Given the description of an element on the screen output the (x, y) to click on. 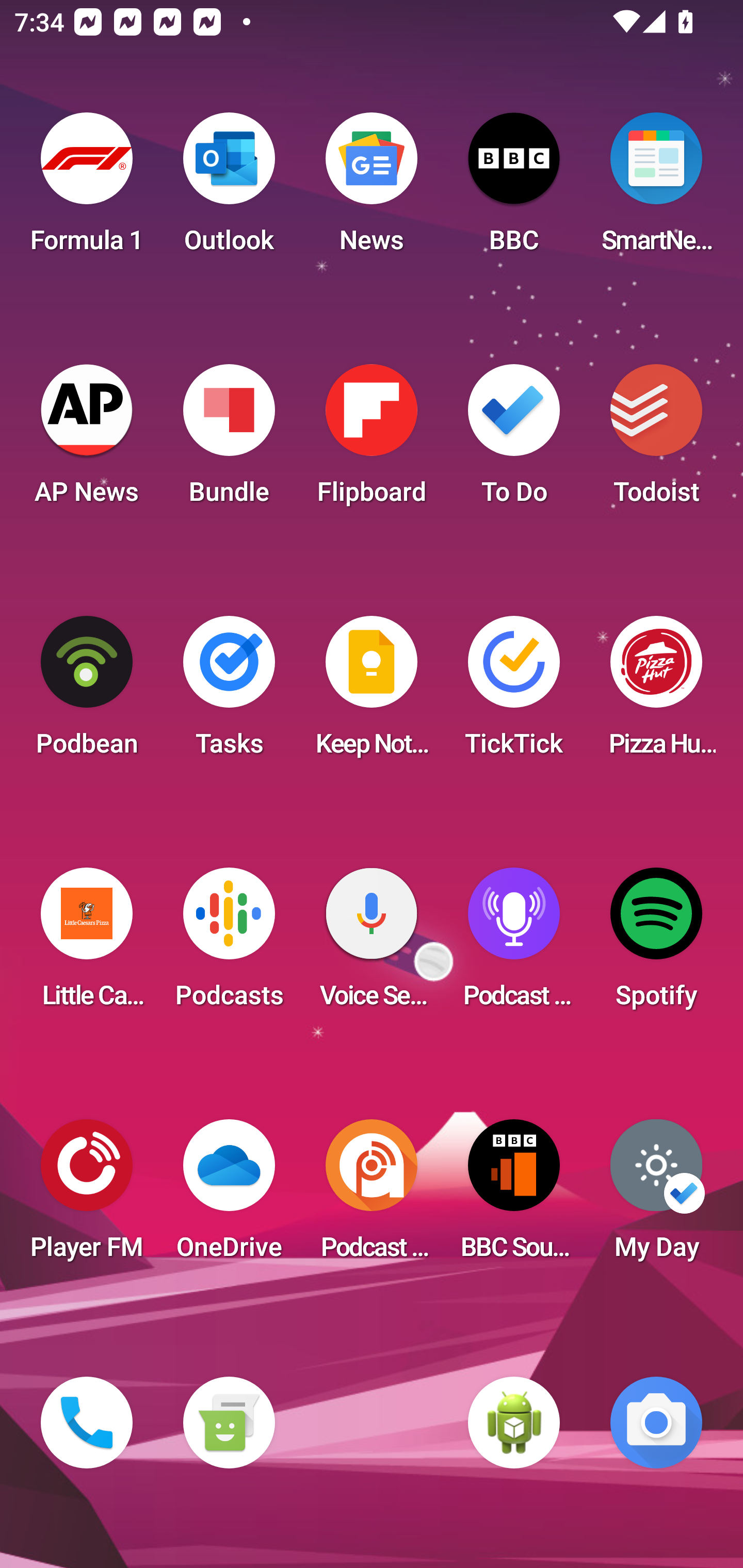
Formula 1 (86, 188)
Outlook (228, 188)
News (371, 188)
BBC (513, 188)
SmartNews (656, 188)
AP News (86, 440)
Bundle (228, 440)
Flipboard (371, 440)
To Do (513, 440)
Todoist (656, 440)
Podbean (86, 692)
Tasks (228, 692)
Keep Notes (371, 692)
TickTick (513, 692)
Pizza Hut HK & Macau (656, 692)
Little Caesars Pizza (86, 943)
Podcasts (228, 943)
Voice Search (371, 943)
Podcast Player (513, 943)
Spotify (656, 943)
Player FM (86, 1195)
OneDrive (228, 1195)
Podcast Addict (371, 1195)
BBC Sounds (513, 1195)
My Day (656, 1195)
Phone (86, 1422)
Messaging (228, 1422)
WebView Browser Tester (513, 1422)
Camera (656, 1422)
